Given the description of an element on the screen output the (x, y) to click on. 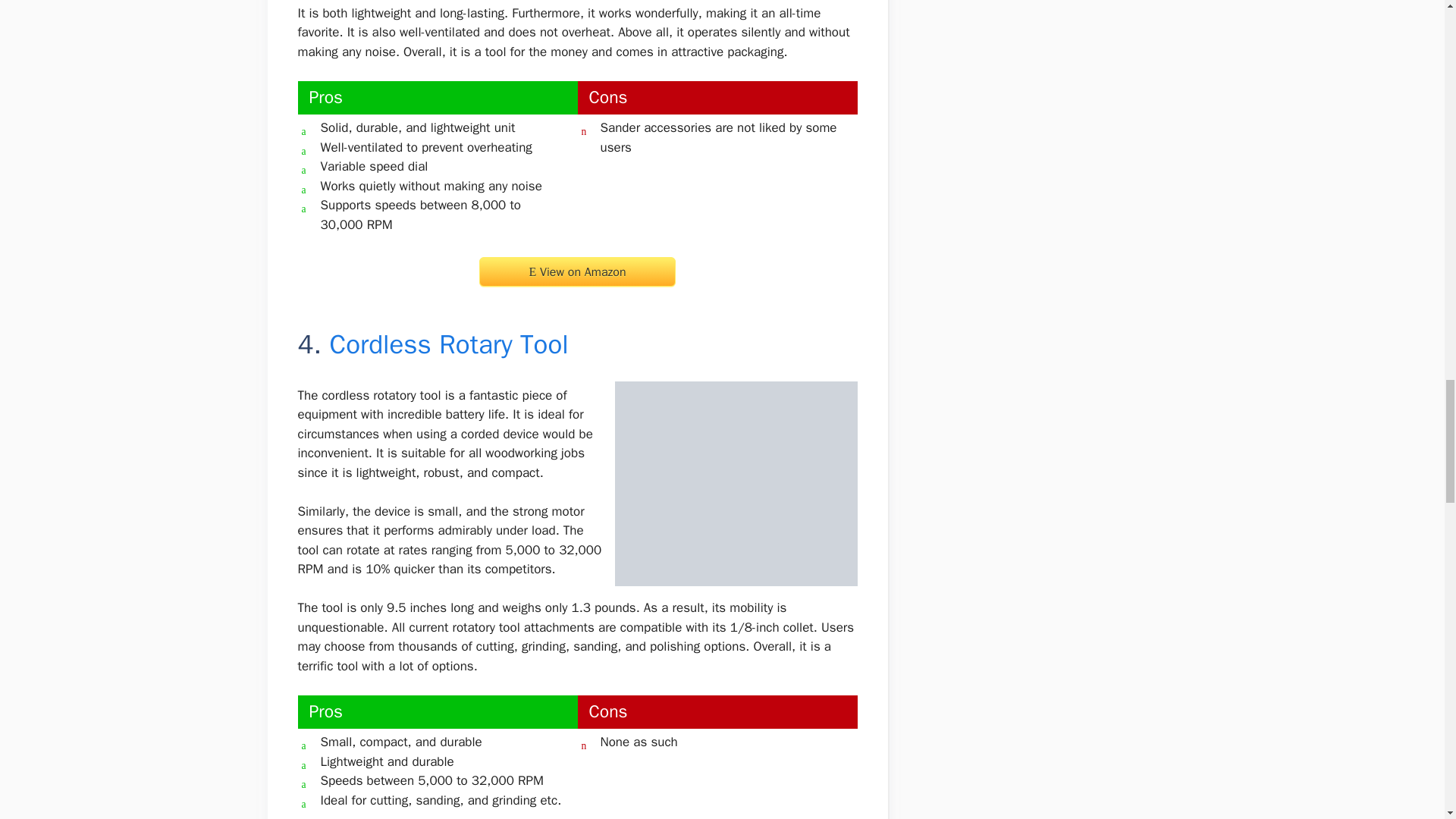
View on Amazon (577, 271)
Cordless Rotary Tool (448, 344)
